Given the description of an element on the screen output the (x, y) to click on. 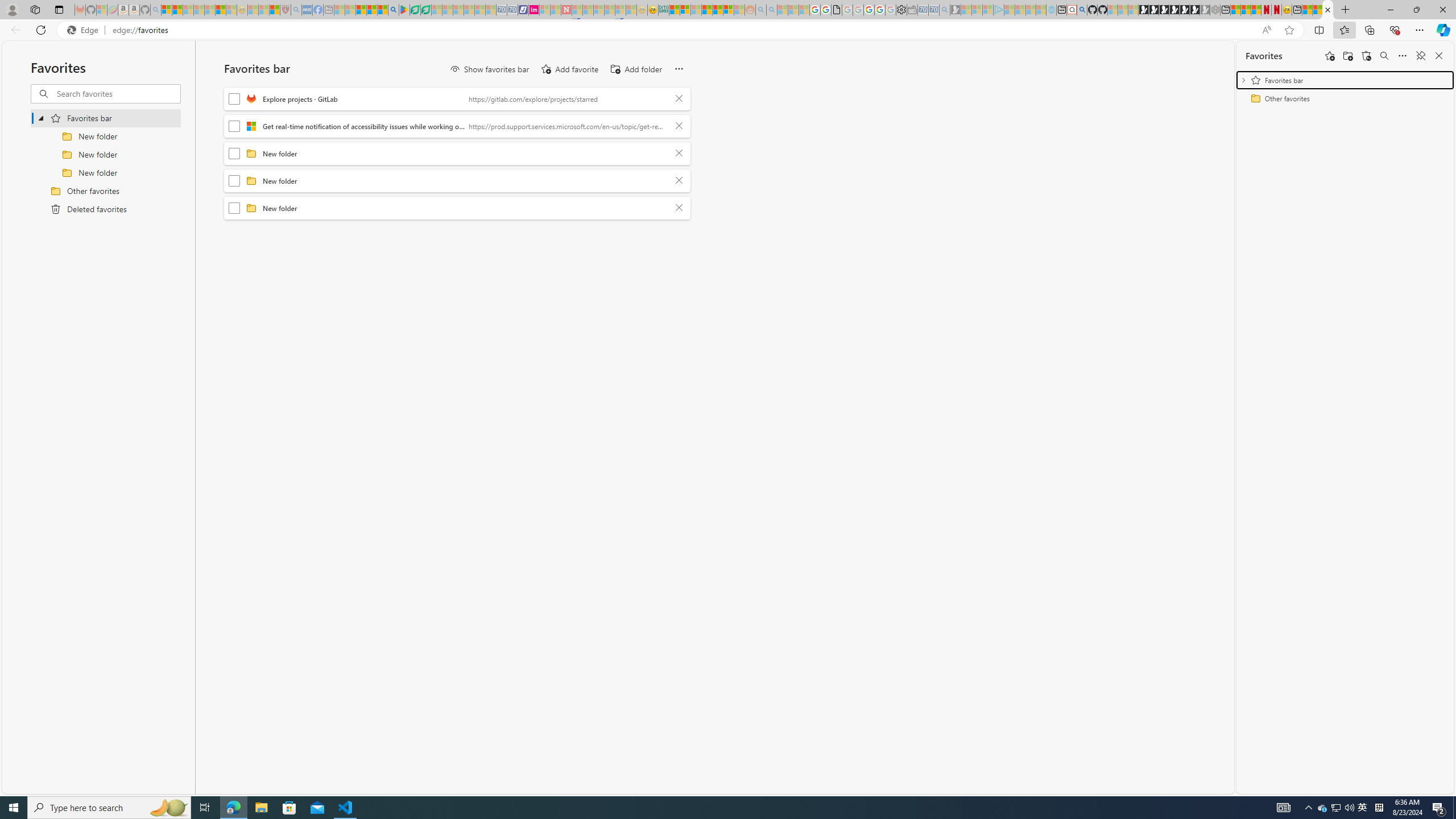
Terms of Use Agreement (414, 9)
Edge (84, 29)
Close favorites (1439, 55)
